Given the description of an element on the screen output the (x, y) to click on. 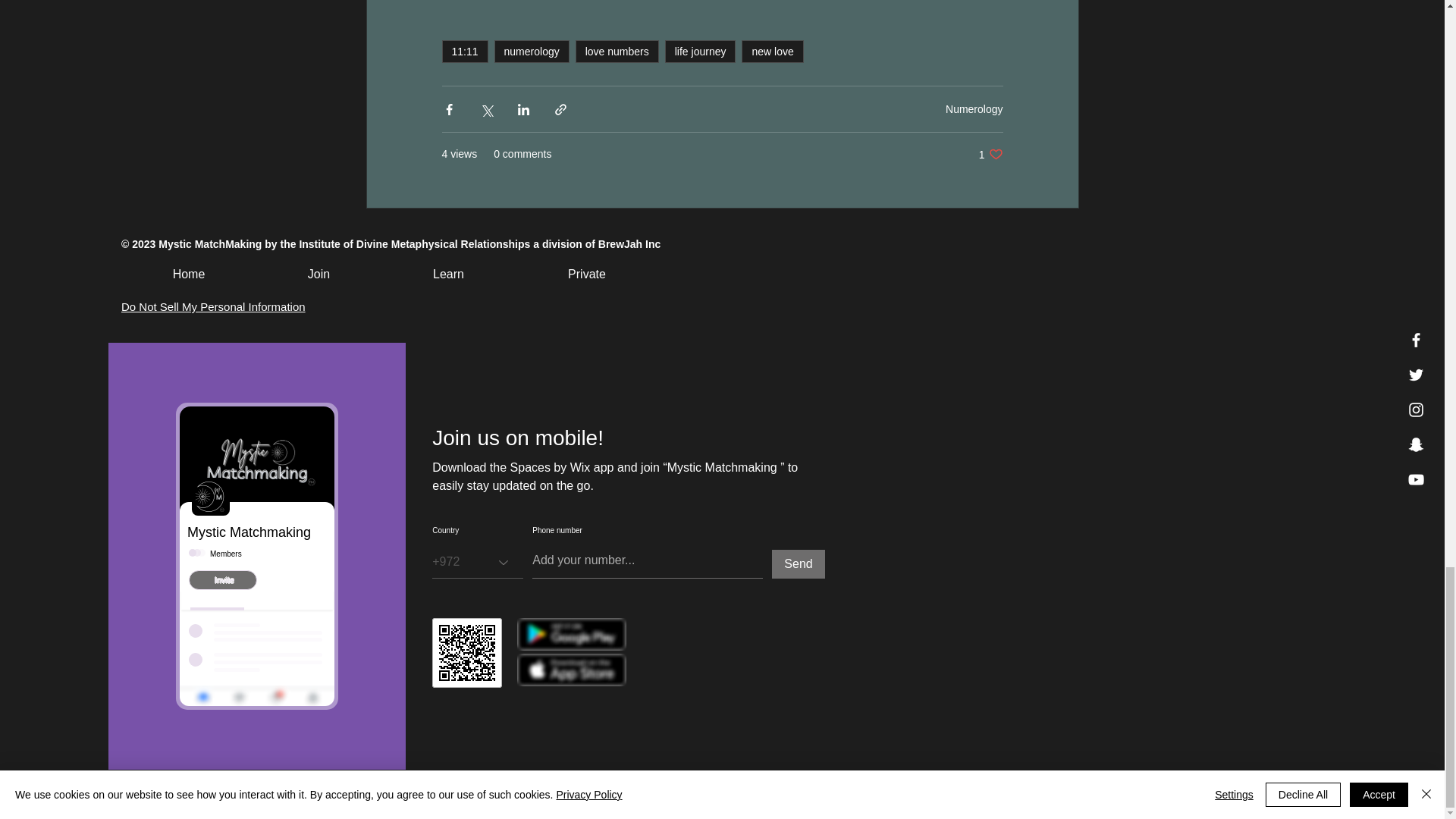
numerology (532, 51)
life journey (700, 51)
11:11 (464, 51)
new love (772, 51)
love numbers (617, 51)
